Given the description of an element on the screen output the (x, y) to click on. 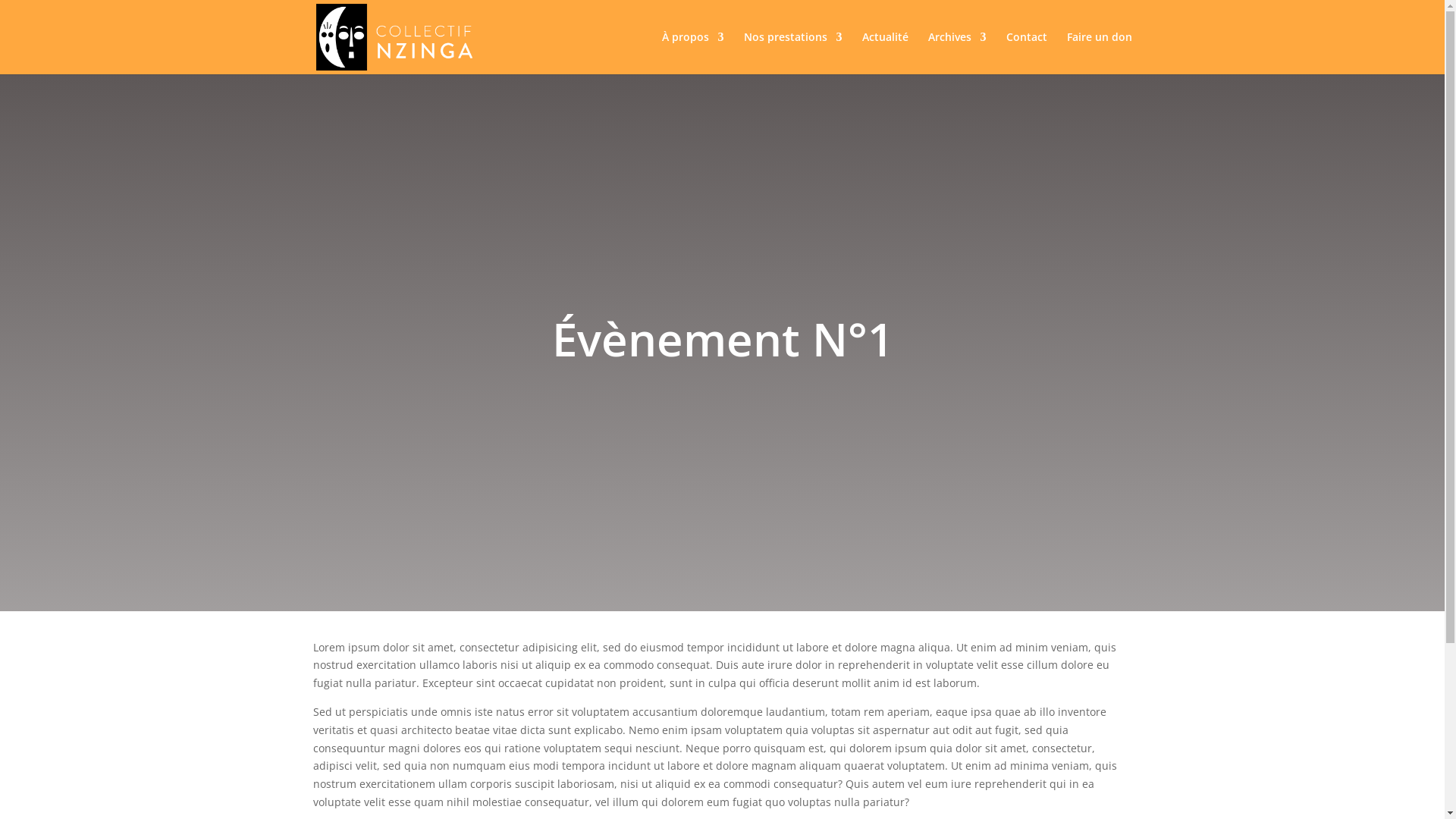
Contact Element type: text (1025, 52)
Nos prestations Element type: text (792, 52)
Faire un don Element type: text (1098, 52)
Archives Element type: text (957, 52)
